Given the description of an element on the screen output the (x, y) to click on. 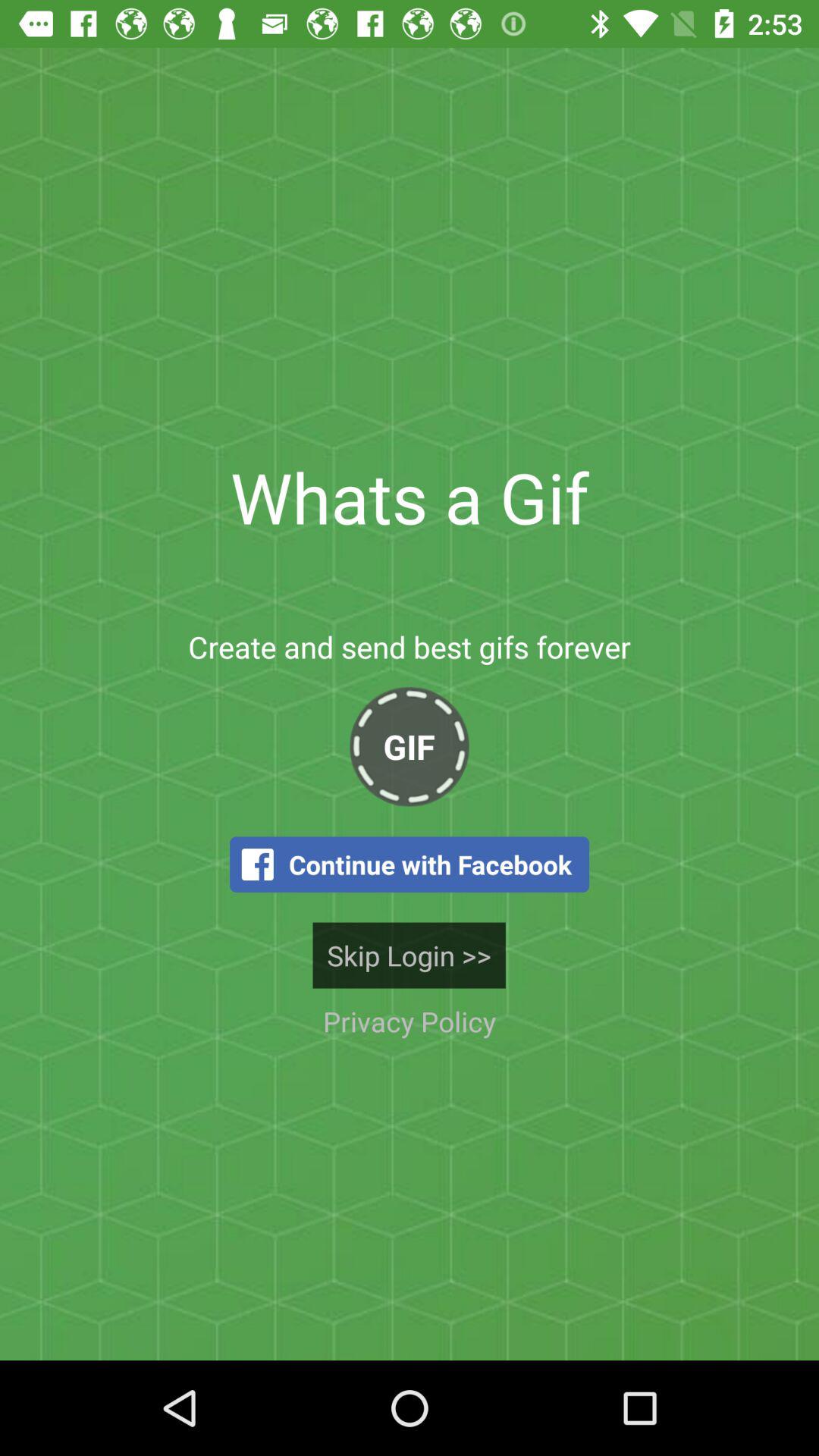
turn on privacy policy item (409, 1021)
